Given the description of an element on the screen output the (x, y) to click on. 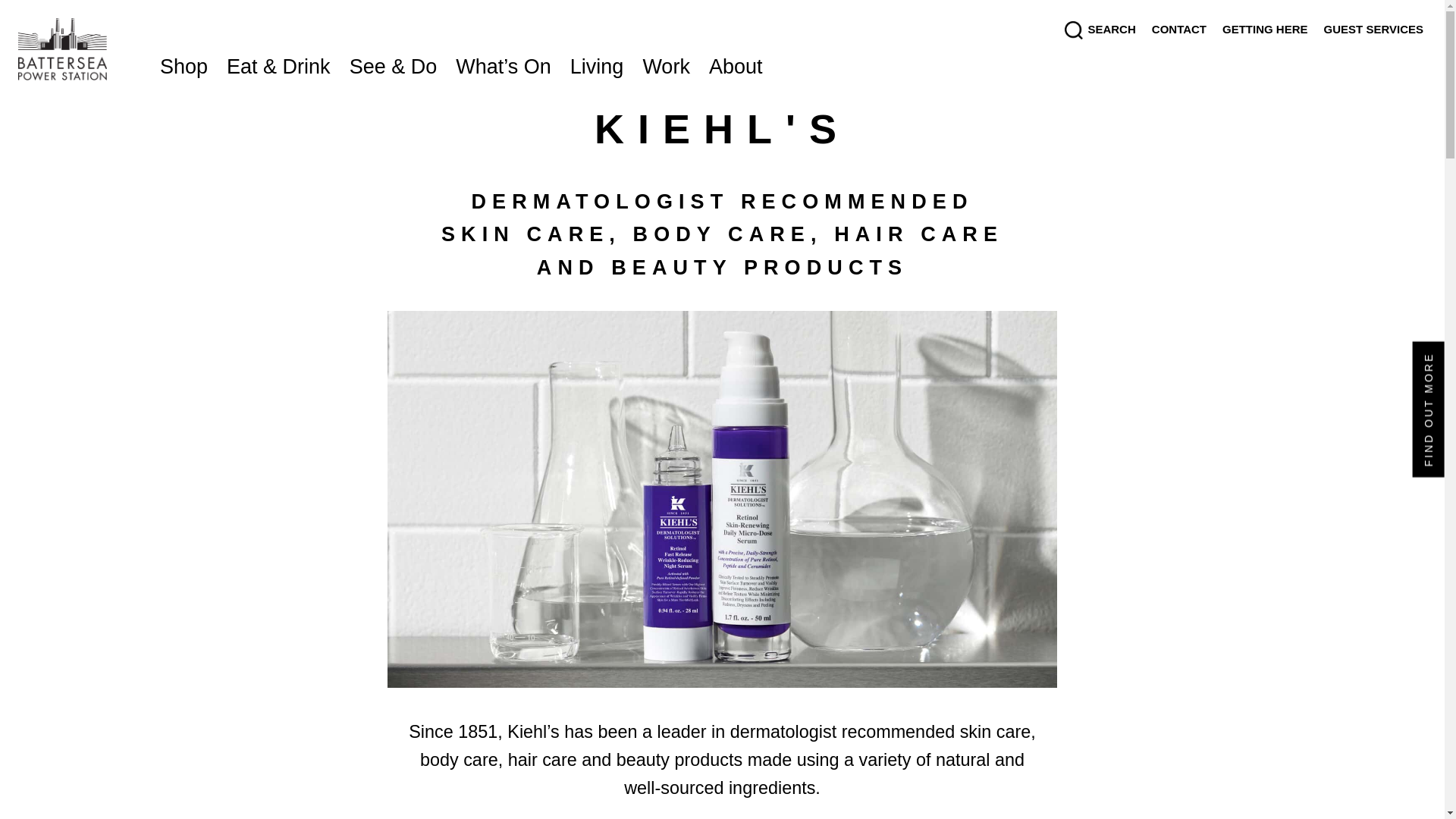
Shop (183, 68)
GUEST SERVICES (1373, 28)
Work (665, 68)
SEARCH (1099, 30)
GETTING HERE (1264, 28)
About (735, 68)
Living (596, 68)
CONTACT (1178, 28)
